Given the description of an element on the screen output the (x, y) to click on. 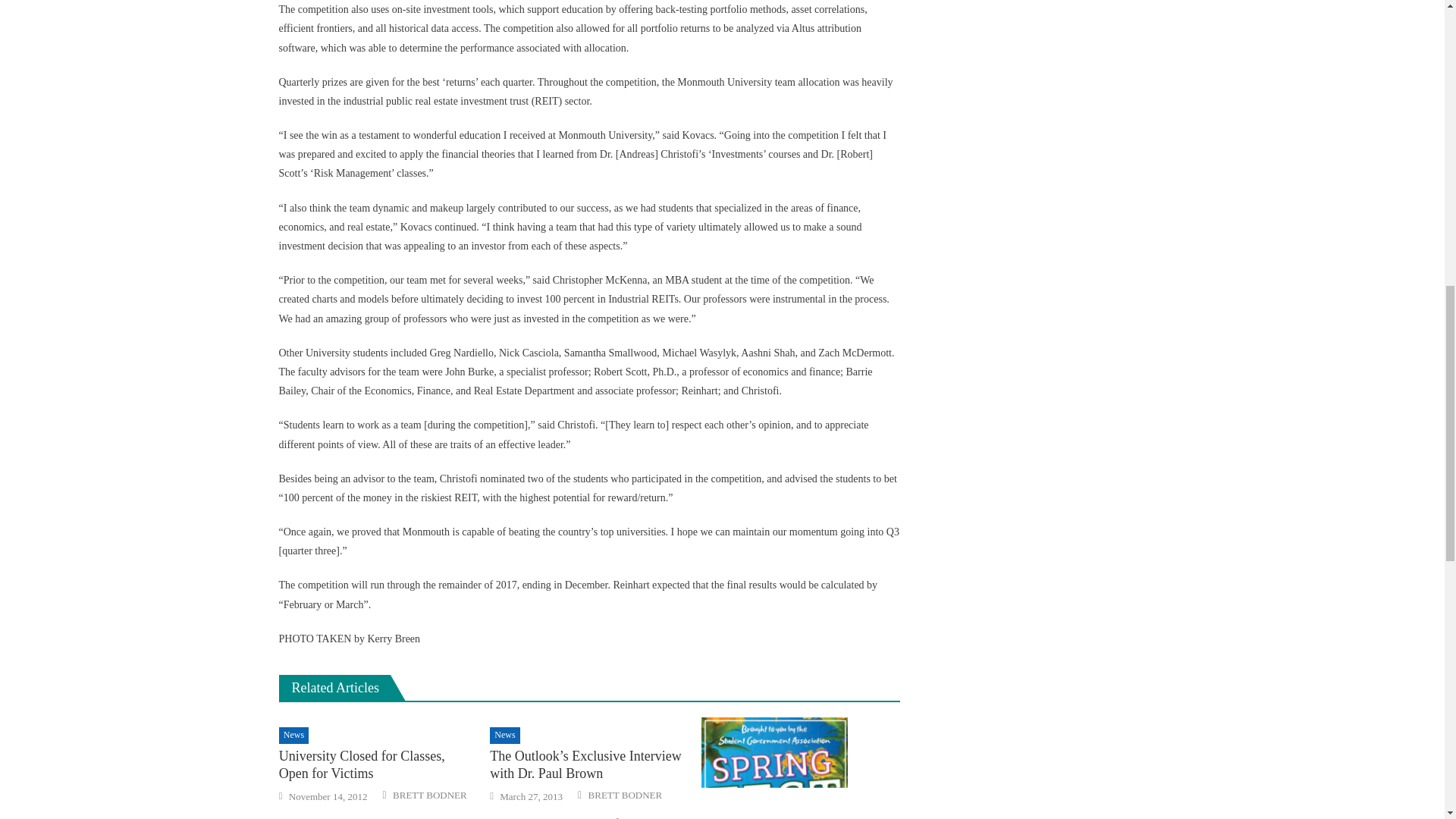
Posts by BRETT BODNER (430, 795)
2016 Springfest Preview: Featuring We The Kings (800, 768)
March 27, 2013 (530, 796)
News (293, 735)
University Closed for Classes, Open for Victims (378, 764)
BRETT BODNER (625, 795)
BRETT BODNER (430, 795)
Posts by BRETT BODNER (625, 795)
November 14, 2012 (328, 796)
News (504, 735)
